Given the description of an element on the screen output the (x, y) to click on. 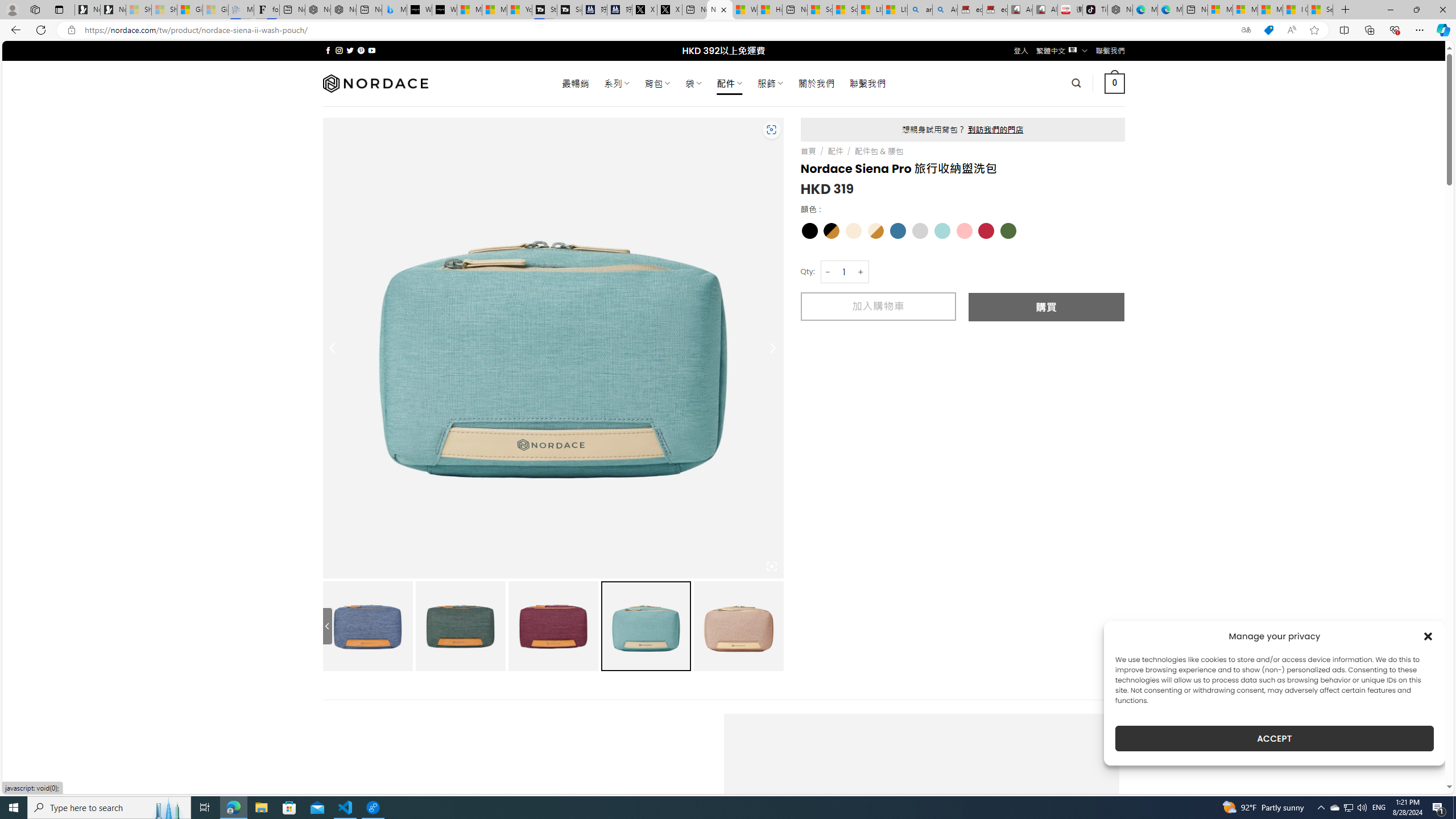
amazon - Search (919, 9)
New tab (1194, 9)
Microsoft Start Sports (469, 9)
Read aloud this page (Ctrl+Shift+U) (1291, 29)
Close (1442, 9)
Huge shark washes ashore at New York City beach | Watch (769, 9)
